Given the description of an element on the screen output the (x, y) to click on. 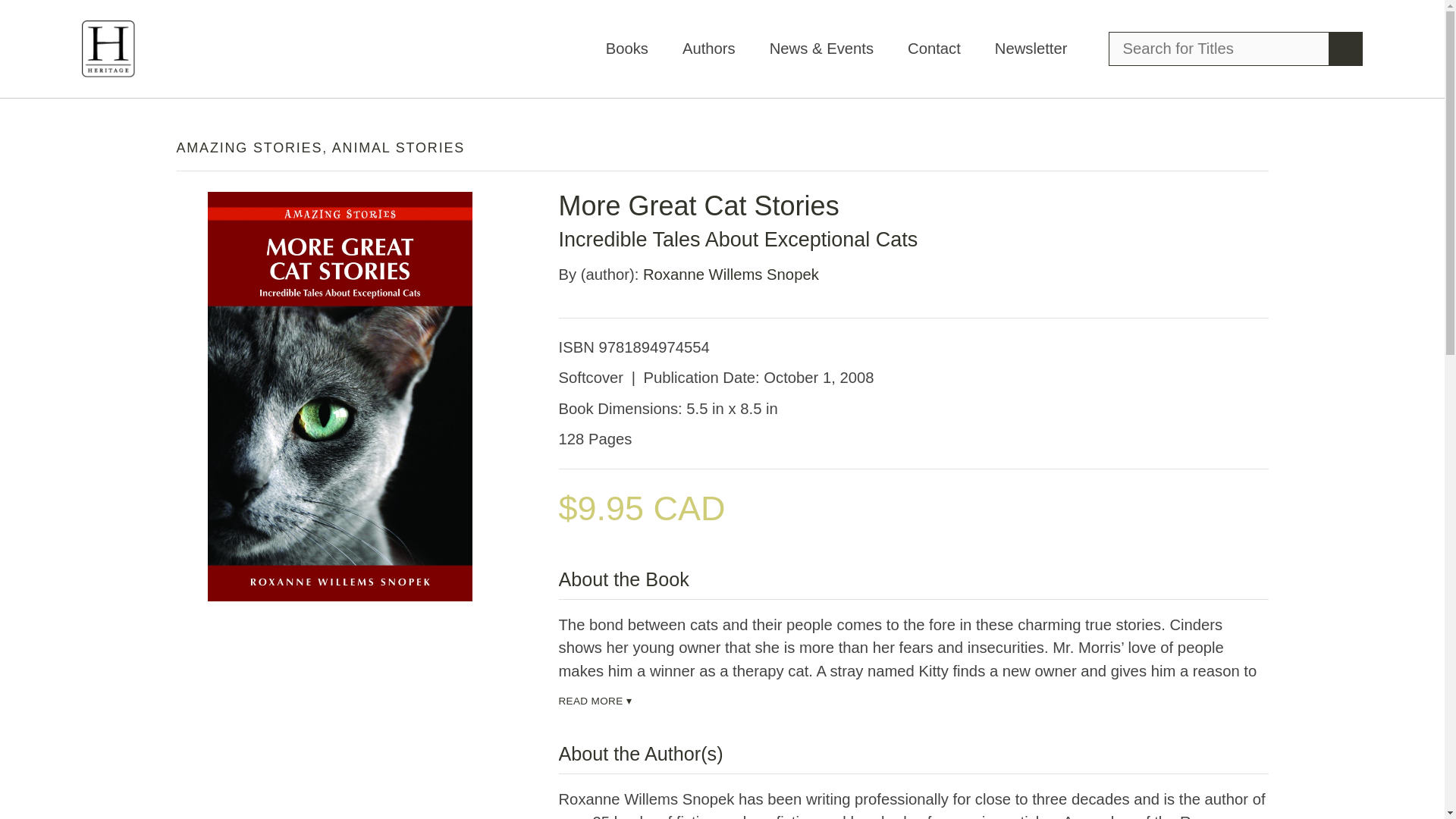
Roxanne Willems Snopek (730, 274)
View all books in Amazing Stories (248, 147)
Contact (933, 48)
Newsletter (1030, 48)
ANIMAL STORIES (397, 147)
AMAZING STORIES (248, 147)
Books (626, 48)
Authors (708, 48)
View all books in Animal stories (397, 147)
